Given the description of an element on the screen output the (x, y) to click on. 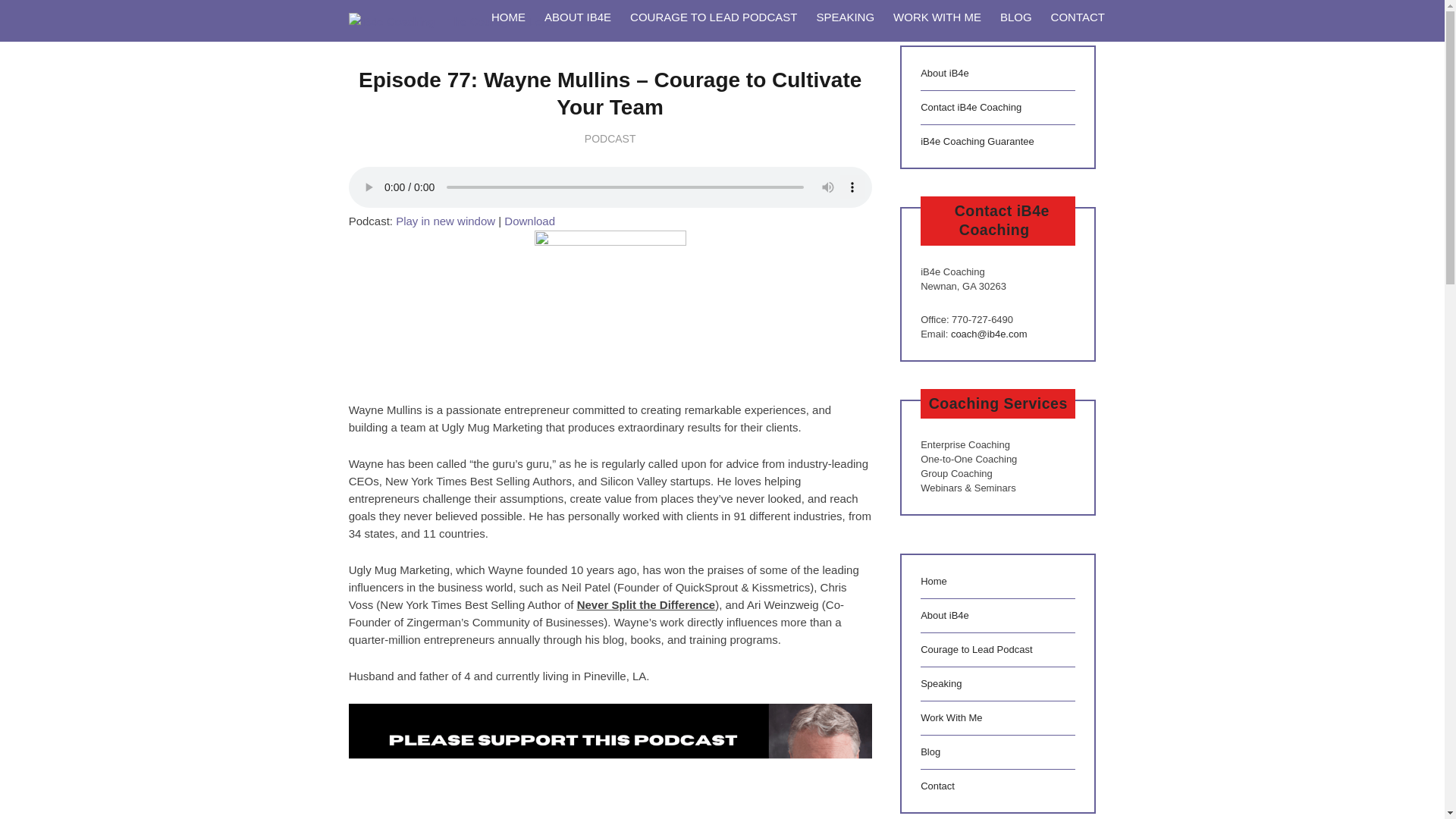
Contact iB4e Coaching (971, 107)
ABOUT IB4E (577, 20)
HOME (507, 20)
SPEAKING (844, 20)
WORK WITH ME (937, 20)
Download (528, 220)
COURAGE TO LEAD PODCAST (713, 20)
Play in new window (445, 220)
Download (528, 220)
CONTACT (1077, 20)
